Given the description of an element on the screen output the (x, y) to click on. 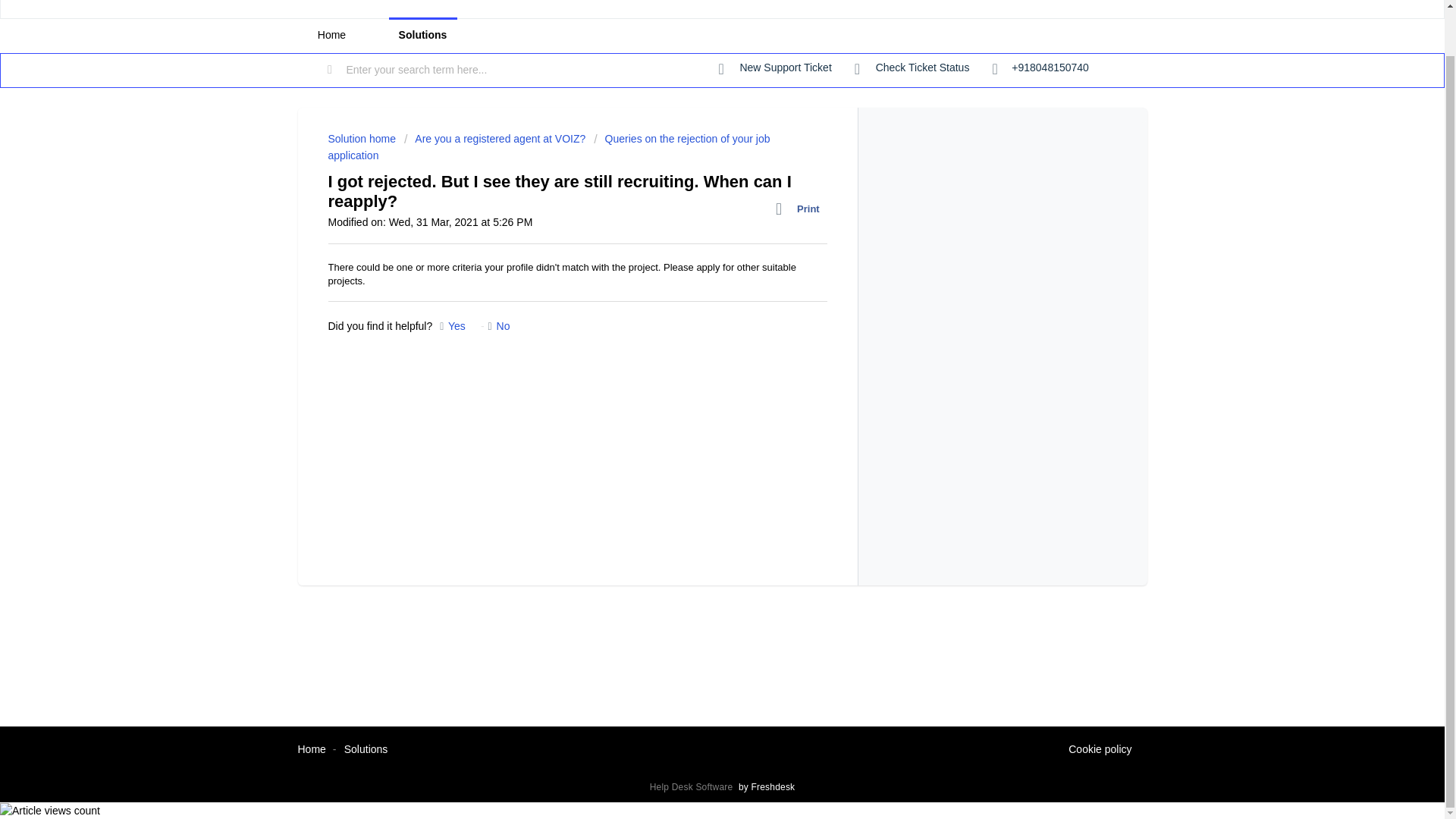
Check Ticket Status (911, 68)
Why we love Cookies (1099, 750)
Check ticket status (911, 68)
Help Desk Software (693, 787)
Solutions (422, 35)
New Support Ticket (775, 68)
Cookie policy (1099, 750)
Solutions (365, 748)
New support ticket (775, 68)
Print this Article (801, 209)
